Given the description of an element on the screen output the (x, y) to click on. 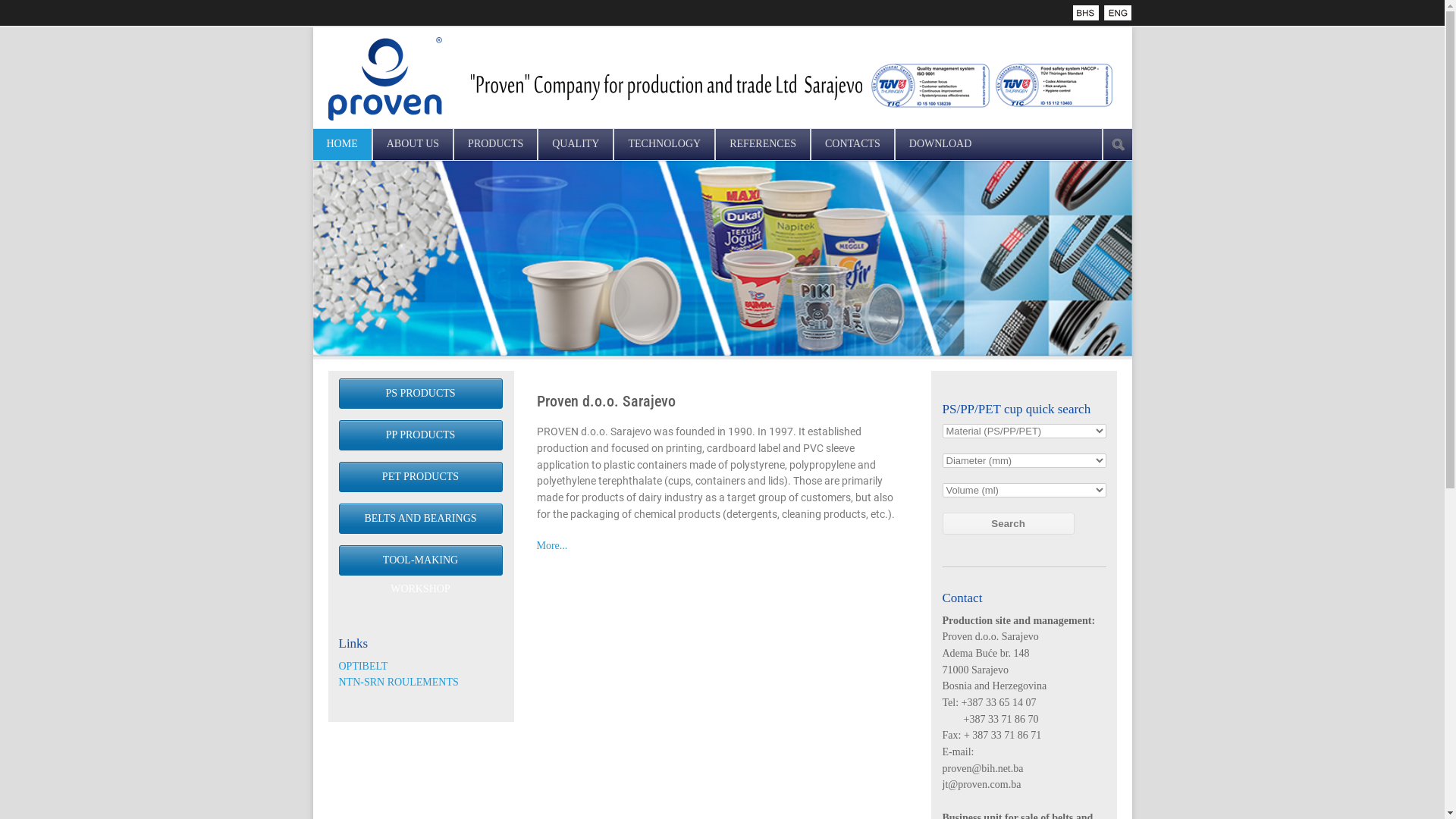
OPTIBELT Element type: text (362, 665)
TOOL-MAKING WORKSHOP Element type: text (420, 560)
REFERENCES Element type: text (762, 144)
ABOUT US Element type: text (412, 144)
Proven Sarajevo Element type: hover (1087, 12)
QUALITY Element type: text (575, 144)
PP PRODUCTS Element type: text (420, 435)
DOWNLOAD Element type: text (939, 144)
PS PRODUCTS Element type: text (420, 393)
PET PRODUCTS Element type: text (420, 476)
TECHNOLOGY Element type: text (664, 144)
More... Element type: text (551, 545)
NTN-SRN ROULEMENTS Element type: text (398, 681)
Proven Ltd Sarajevo Element type: hover (1117, 12)
HOME Element type: text (341, 144)
BELTS AND BEARINGS Element type: text (420, 518)
CONTACTS Element type: text (852, 144)
PRODUCTS Element type: text (495, 144)
